Given the description of an element on the screen output the (x, y) to click on. 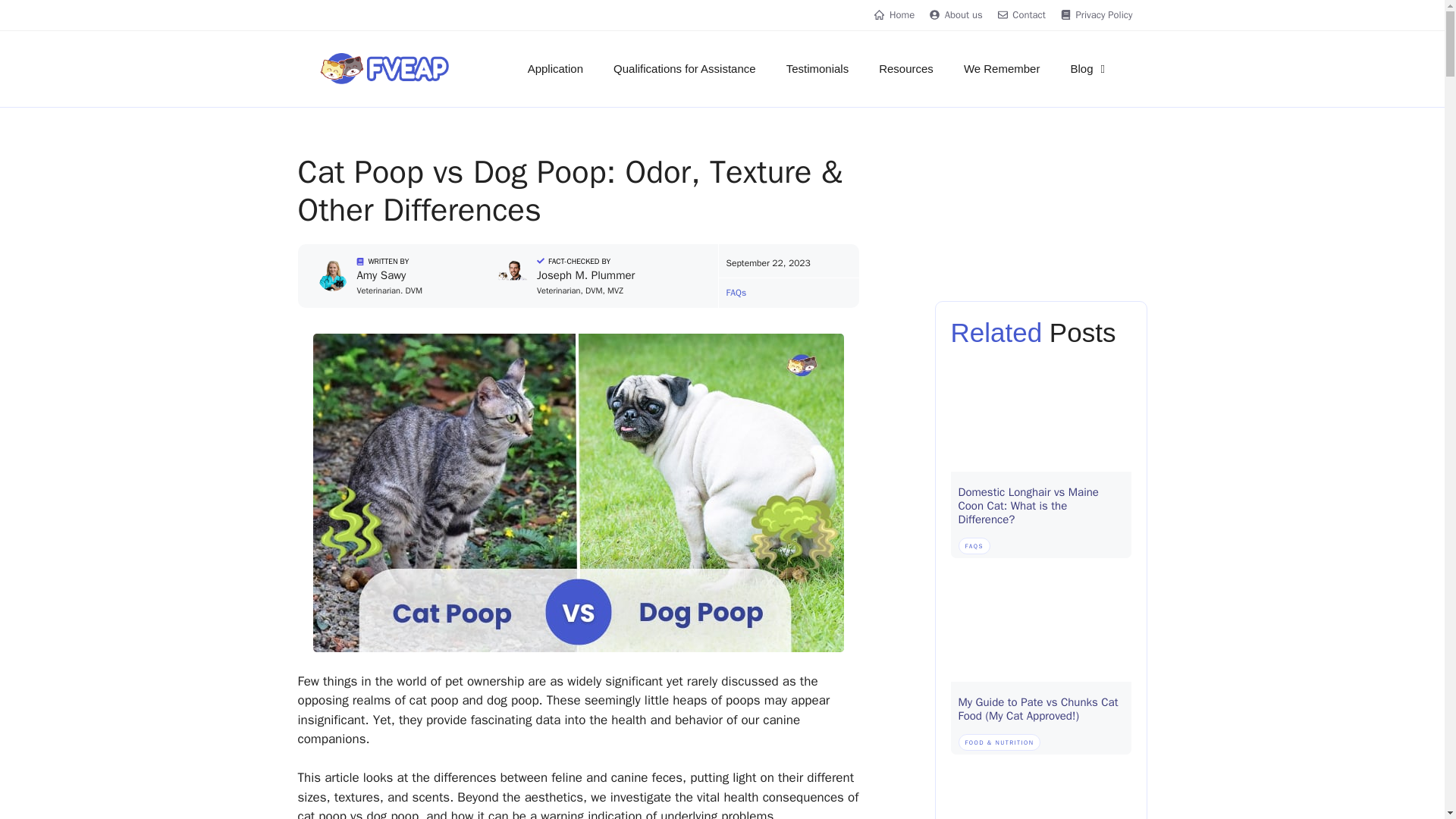
Resources (906, 67)
Testimonials (817, 67)
Amy Sawy (381, 274)
Amy-Sawy-fveap (332, 276)
Blog (1089, 67)
Contact (1021, 14)
FAQs (736, 292)
Home (894, 14)
Joseph M. Plummer (585, 274)
About us (956, 14)
We Remember (1002, 67)
Qualifications for Assistance (684, 67)
Privacy Policy (1096, 14)
Application (555, 67)
Joseph-Plummer-fveap (512, 276)
